Given the description of an element on the screen output the (x, y) to click on. 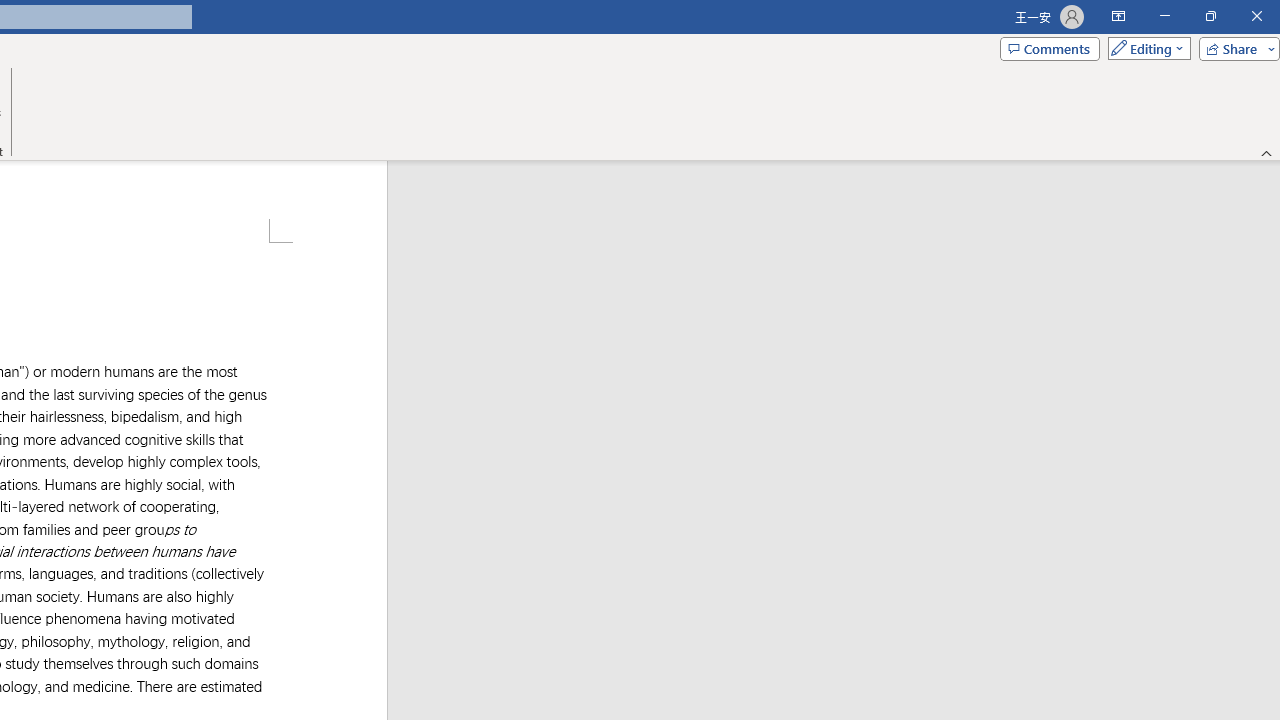
Editing (1144, 47)
